Given the description of an element on the screen output the (x, y) to click on. 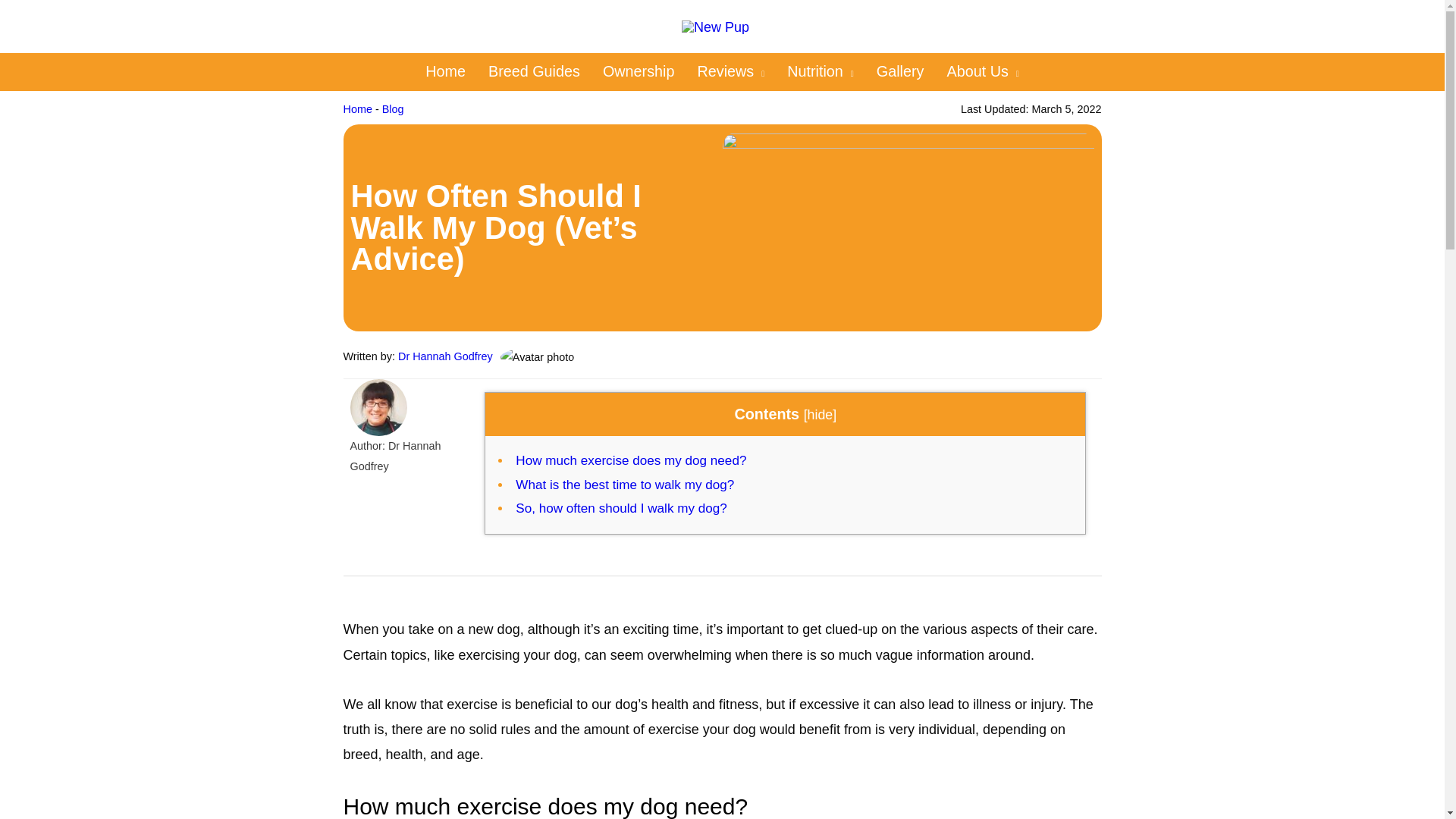
Home (356, 109)
Nutrition (820, 71)
How much exercise does my dog need? (630, 460)
Blog (392, 109)
So, how often should I walk my dog? (620, 508)
Reviews (730, 71)
Breed Guides (534, 71)
Author: Dr Hannah Godfrey (406, 455)
Ownership (638, 71)
About Us (981, 71)
Dr Hannah Godfrey (445, 356)
Home (445, 71)
hide (820, 414)
What is the best time to walk my dog? (624, 484)
Gallery (900, 71)
